Given the description of an element on the screen output the (x, y) to click on. 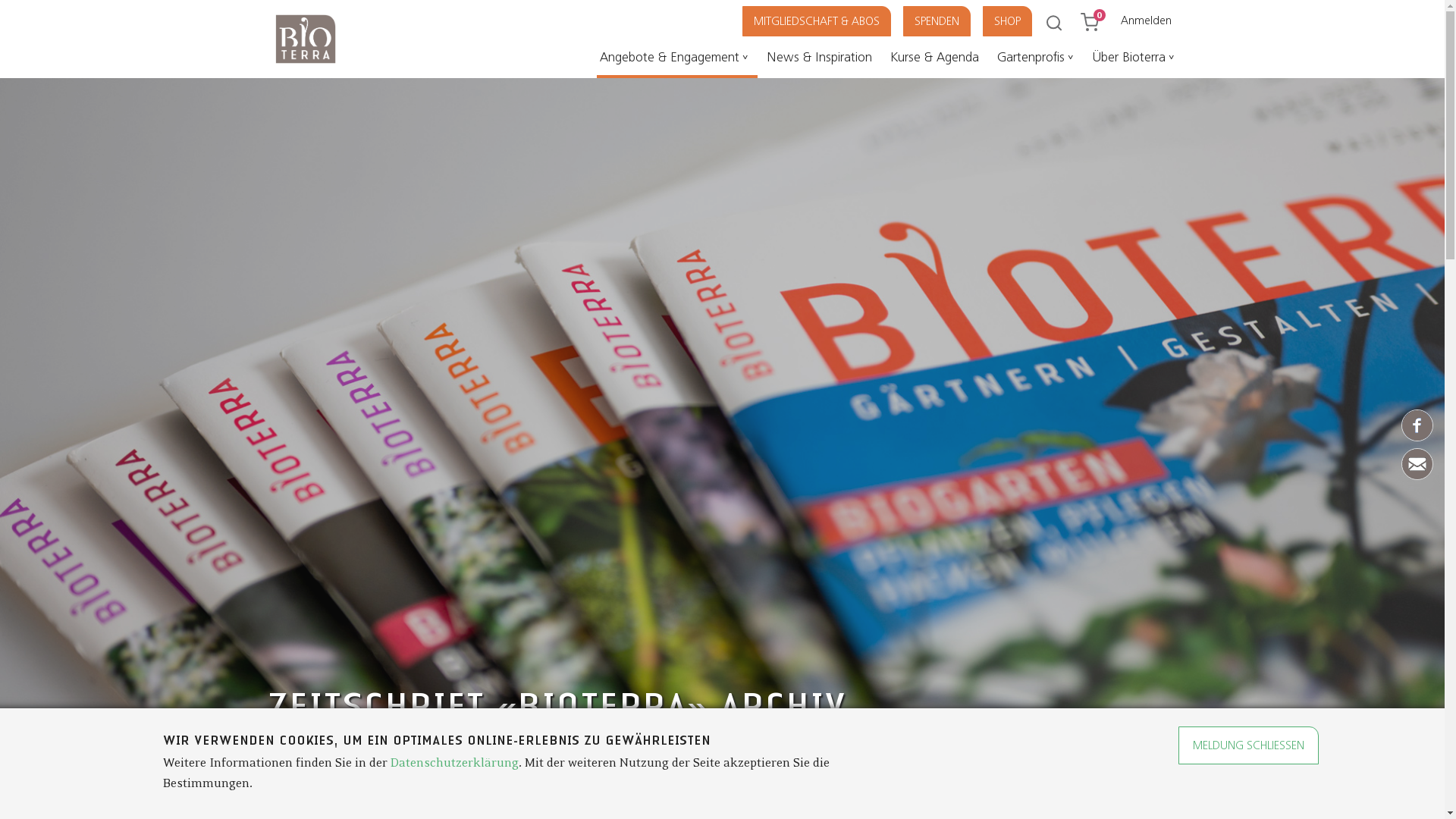
Gartenprofis
> Element type: text (1037, 60)
0 Element type: text (1096, 18)
MITGLIEDSCHAFT & ABOS Element type: text (827, 20)
News & Inspiration Element type: text (821, 60)
Email Element type: hover (1417, 475)
Suchen Element type: text (12, 9)
SPENDEN Element type: text (947, 20)
Anmelden Element type: text (1145, 20)
MELDUNG SCHLIESSEN Element type: text (1248, 745)
SHOP Element type: text (1016, 20)
Direkt zum Inhalt Element type: text (0, 0)
Kurse & Agenda Element type: text (937, 60)
Angebote & Engagement
> Element type: text (676, 60)
Home Element type: hover (304, 67)
Facebook Element type: hover (1417, 437)
Startseite Element type: text (289, 777)
